Given the description of an element on the screen output the (x, y) to click on. 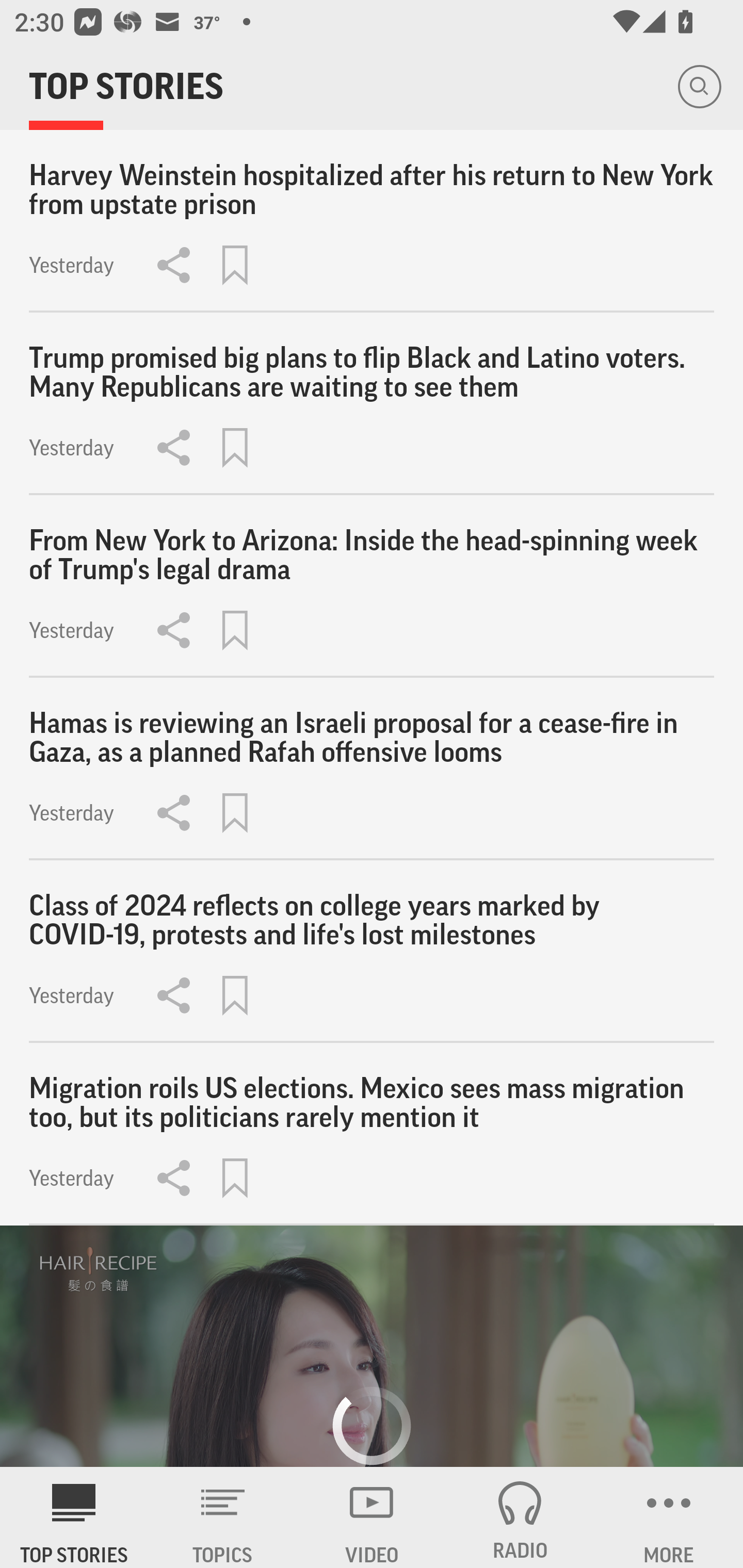
AP News TOP STORIES (74, 1517)
TOPICS (222, 1517)
VIDEO (371, 1517)
RADIO (519, 1517)
MORE (668, 1517)
